Given the description of an element on the screen output the (x, y) to click on. 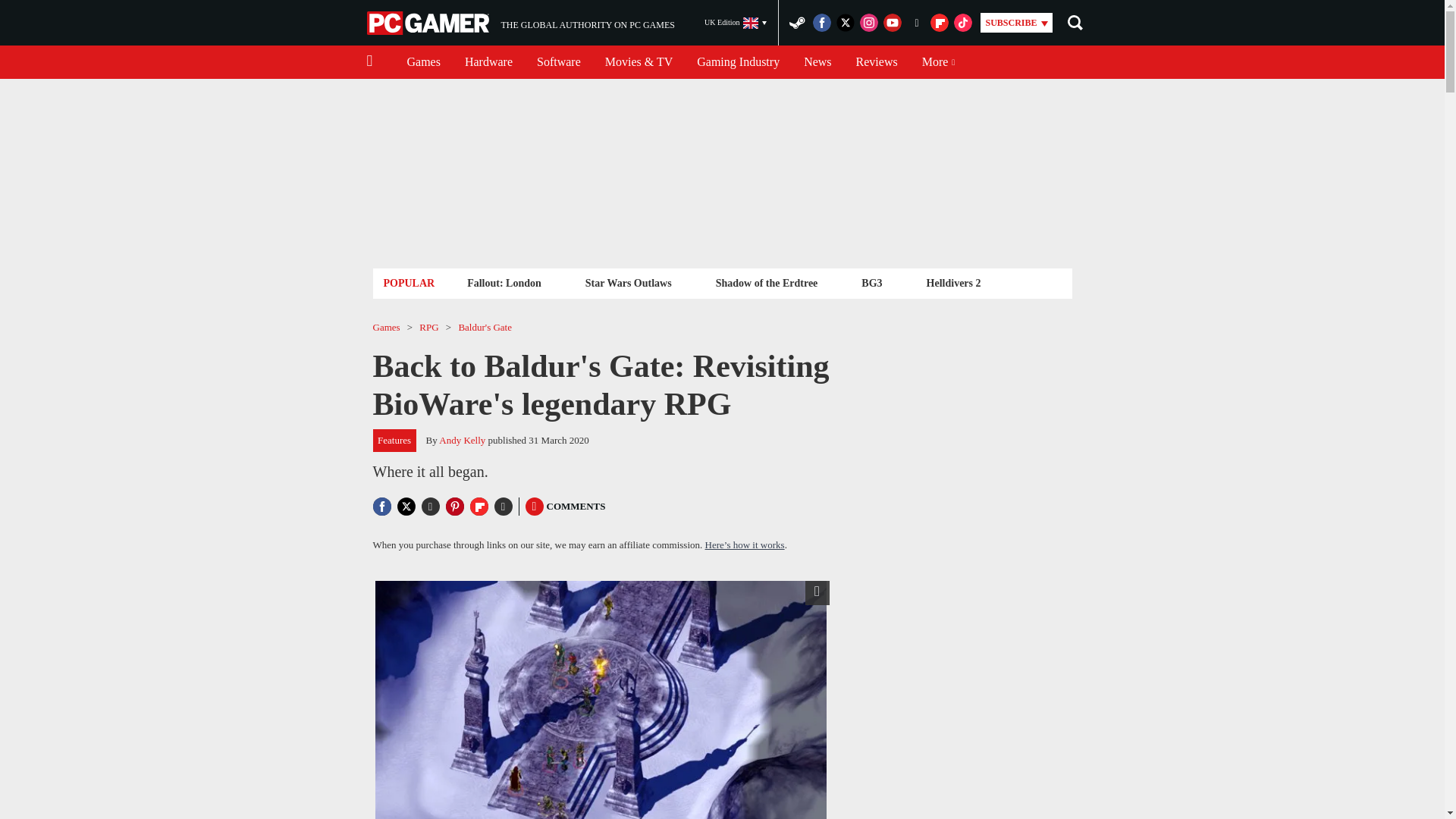
Fallout: London (504, 282)
PC Gamer (429, 22)
UK Edition (735, 22)
Software (558, 61)
Hardware (520, 22)
Star Wars Outlaws (488, 61)
Reviews (628, 282)
News (877, 61)
Games (817, 61)
